Given the description of an element on the screen output the (x, y) to click on. 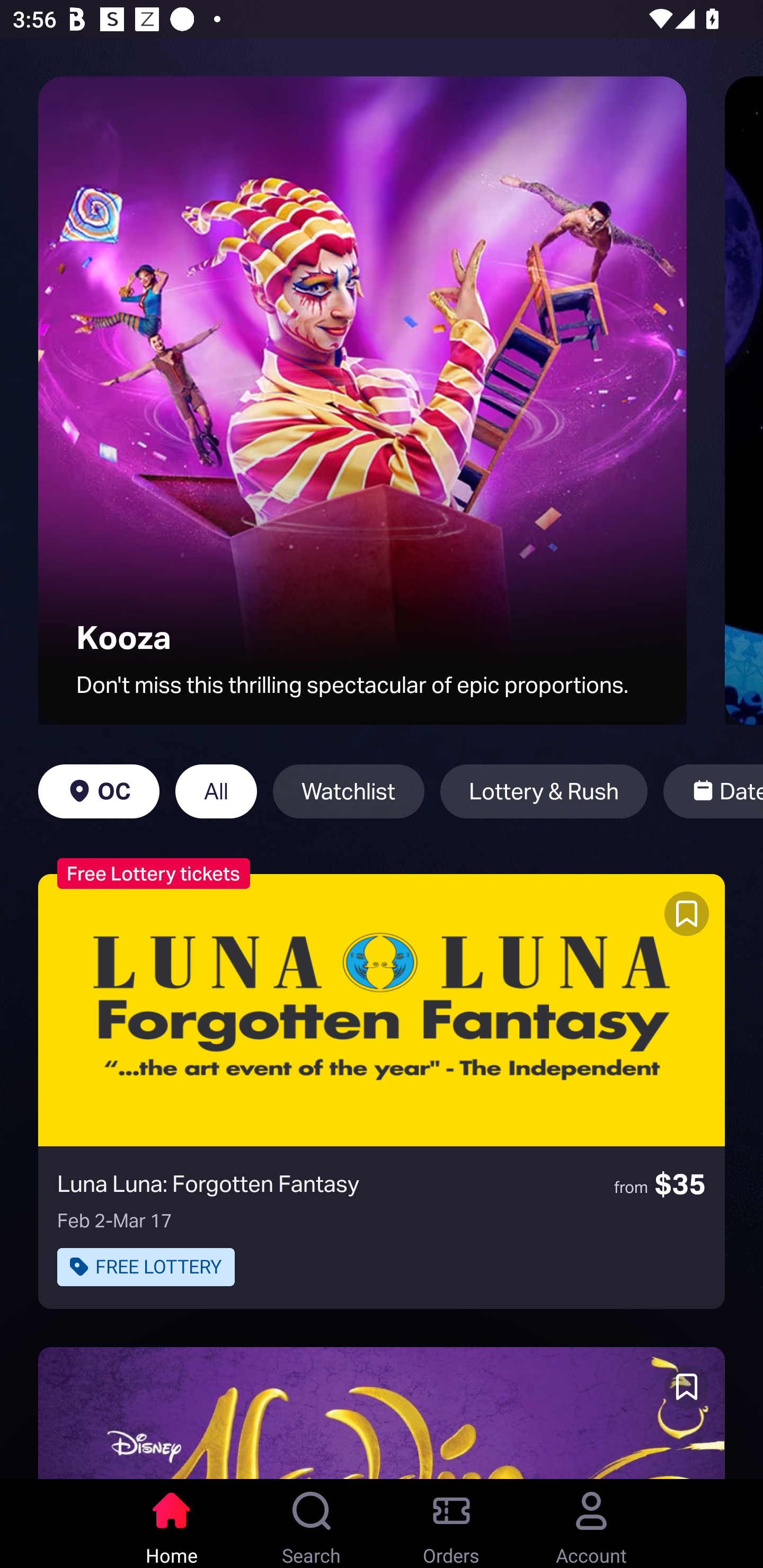
OC (98, 791)
All (216, 791)
Watchlist (348, 791)
Lottery & Rush (543, 791)
Search (311, 1523)
Orders (451, 1523)
Account (591, 1523)
